Given the description of an element on the screen output the (x, y) to click on. 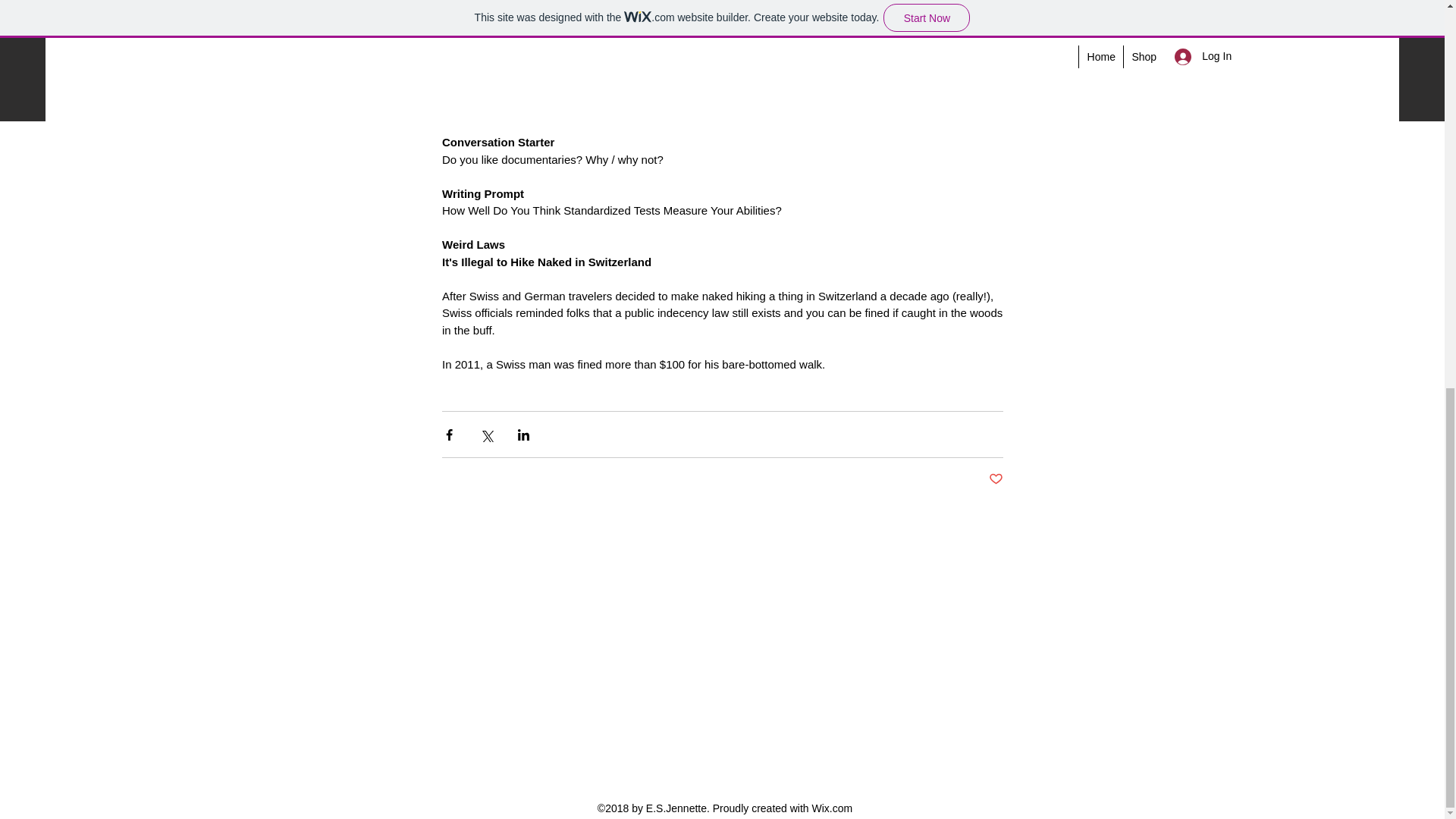
February 2024 (730, 660)
March 2024 (730, 642)
November 2023 (730, 711)
December 2023 (730, 694)
June 2024 (730, 591)
July 2024 (730, 574)
Post not marked as liked (995, 479)
May 2024 (730, 609)
April 2024 (730, 626)
January 2024 (730, 677)
